Given the description of an element on the screen output the (x, y) to click on. 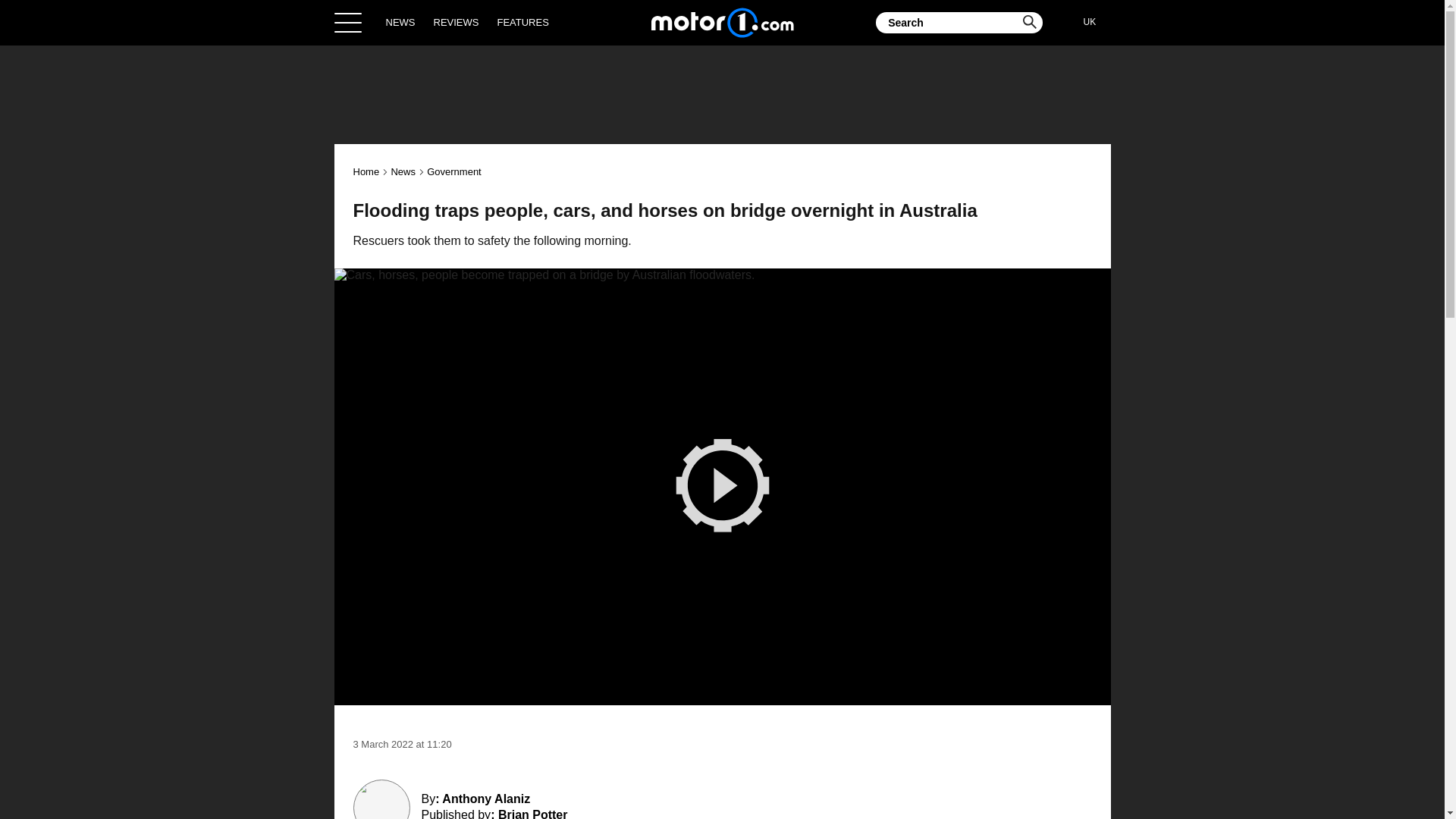
NEWS (399, 22)
News (402, 171)
Brian Potter (532, 813)
Home (366, 171)
REVIEWS (456, 22)
FEATURES (522, 22)
Home (721, 22)
Government (453, 171)
